Given the description of an element on the screen output the (x, y) to click on. 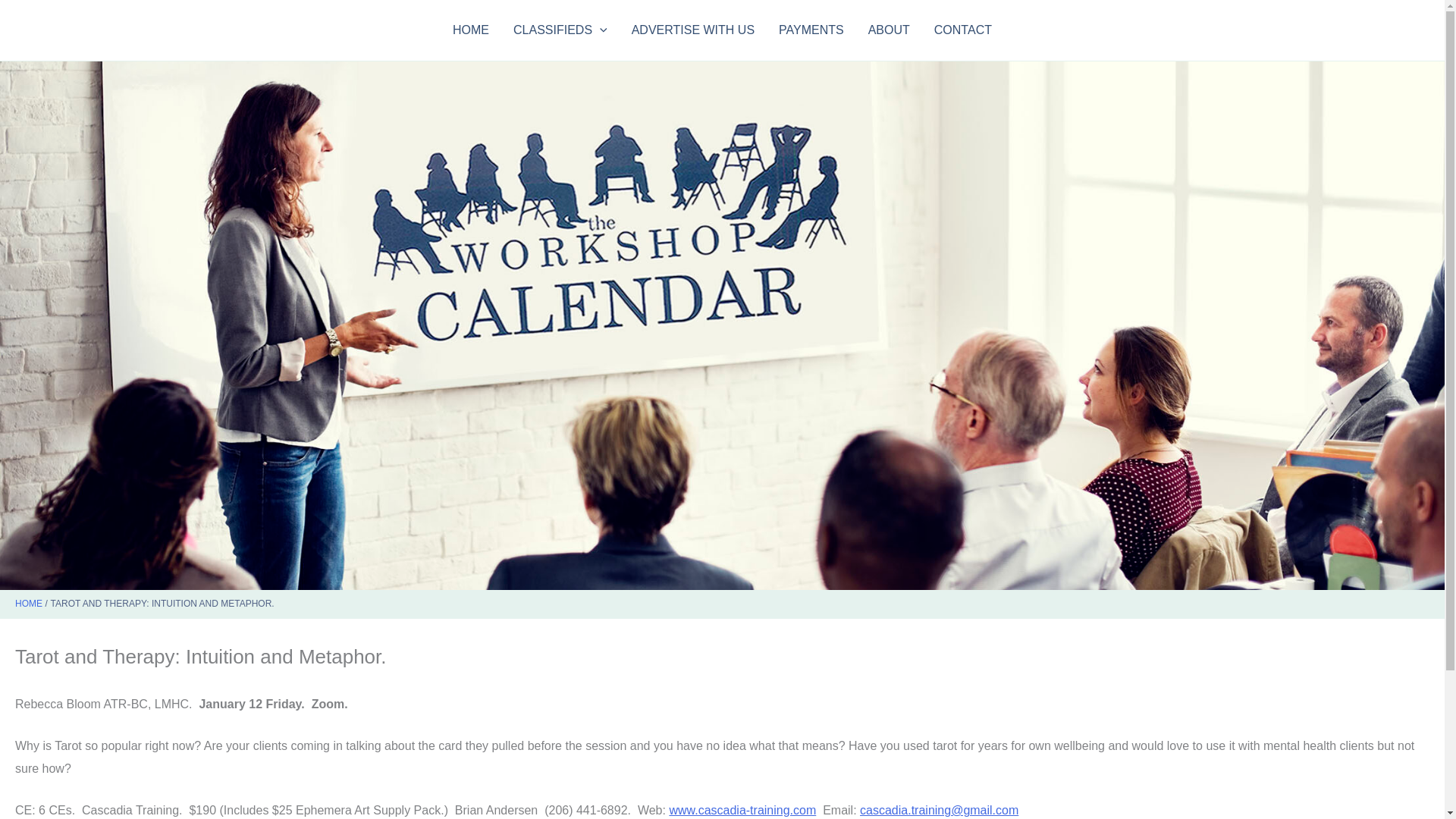
PAYMENTS (811, 30)
www.cascadia-training.com (741, 809)
ADVERTISE WITH US (693, 30)
HOME (470, 30)
CONTACT (962, 30)
ABOUT (888, 30)
CLASSIFIEDS (560, 30)
HOME (28, 603)
